Given the description of an element on the screen output the (x, y) to click on. 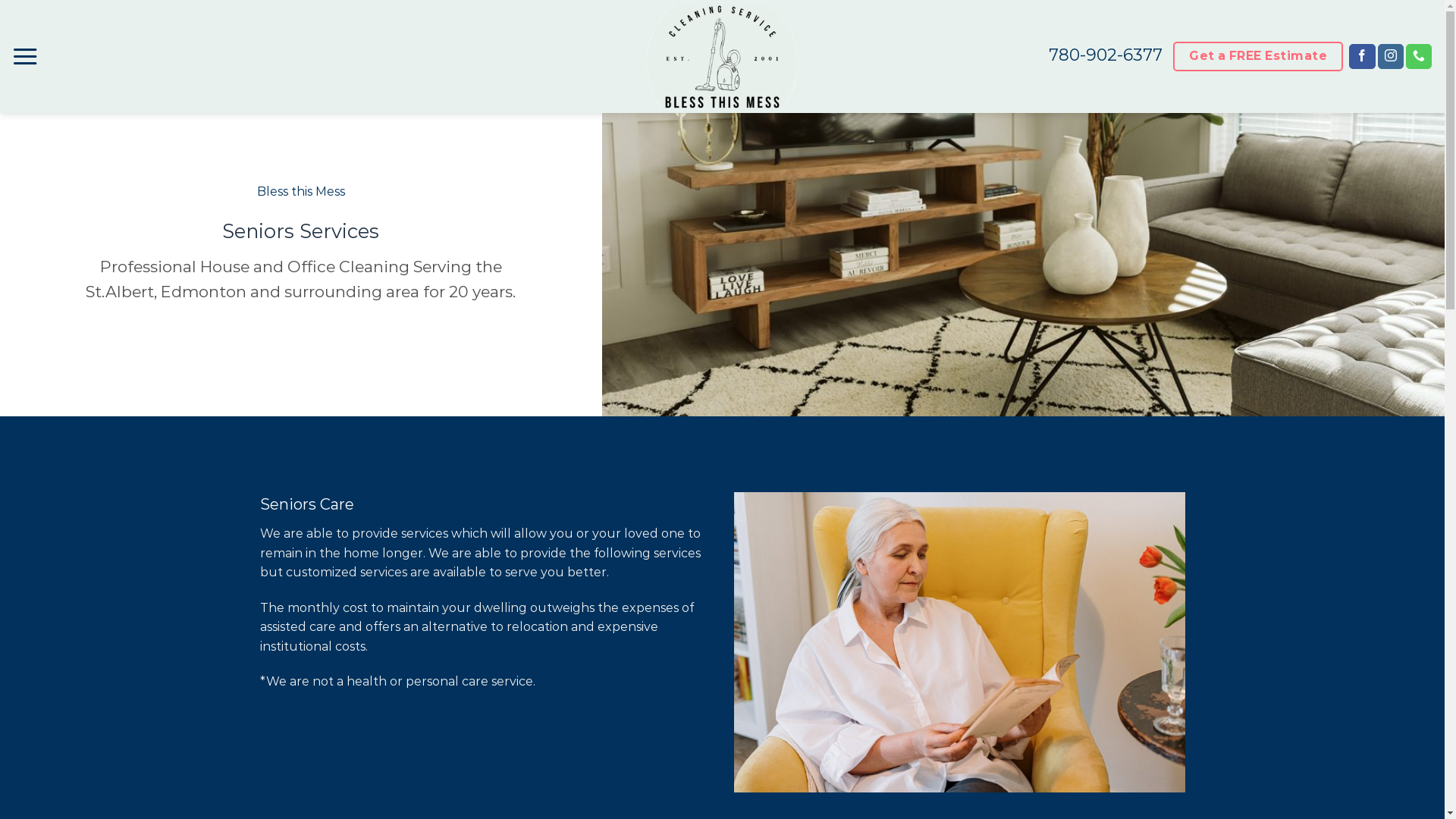
Follow on Facebook Element type: hover (1361, 56)
Bless This Mess - Committed to Professional Cleaning Element type: hover (721, 56)
Call us Element type: hover (1418, 56)
Get a FREE Estimate Element type: text (1257, 56)
Follow on Instagram Element type: hover (1390, 56)
